Given the description of an element on the screen output the (x, y) to click on. 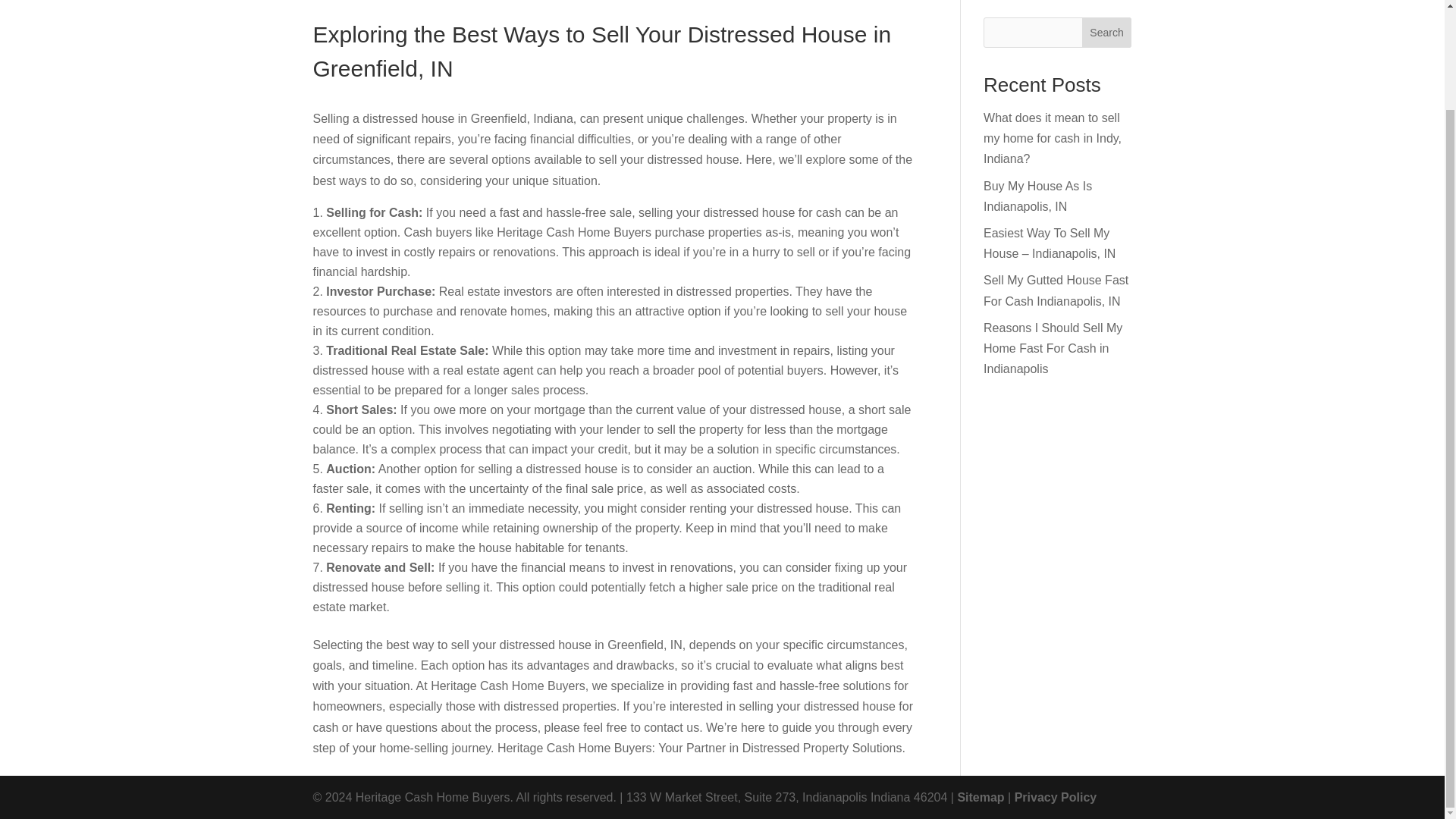
Privacy Policy (1055, 797)
Search (1106, 32)
Reasons I Should Sell My Home Fast For Cash in Indianapolis (1053, 348)
Sell My Gutted House Fast For Cash Indianapolis, IN (1056, 290)
What does it mean to sell my home for cash in Indy, Indiana? (1052, 138)
Buy My House As Is Indianapolis, IN (1038, 195)
Sitemap (980, 797)
